Given the description of an element on the screen output the (x, y) to click on. 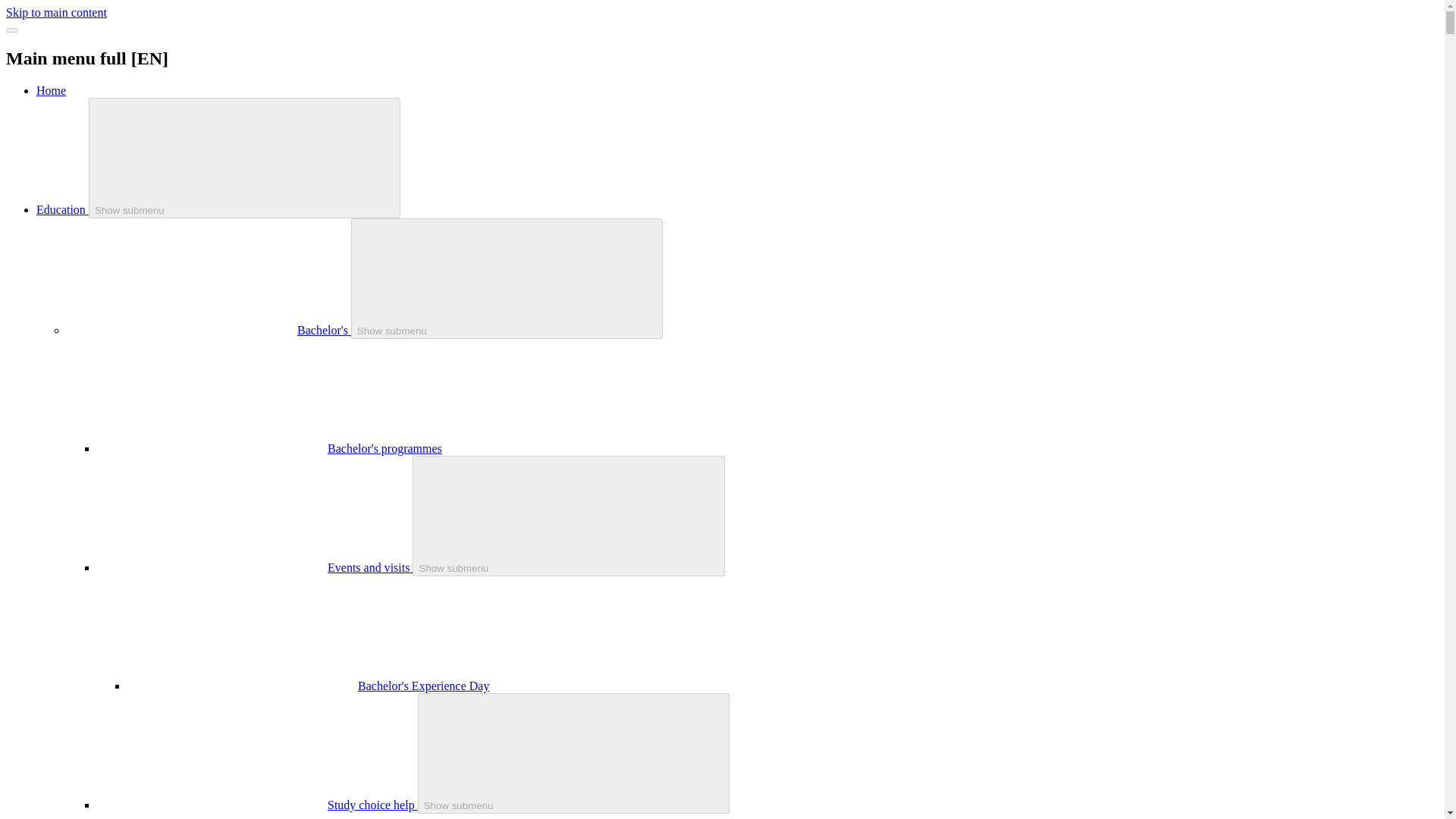
Show submenu (506, 278)
Study choice help (372, 804)
Skip to main content (55, 11)
Show submenu (568, 515)
Bachelor's (323, 329)
Education (62, 209)
Events and visits (369, 567)
Bachelor's Experience Day (423, 685)
Show submenu (573, 753)
Show submenu (244, 157)
Bachelor's programmes (384, 448)
Home (50, 90)
